Given the description of an element on the screen output the (x, y) to click on. 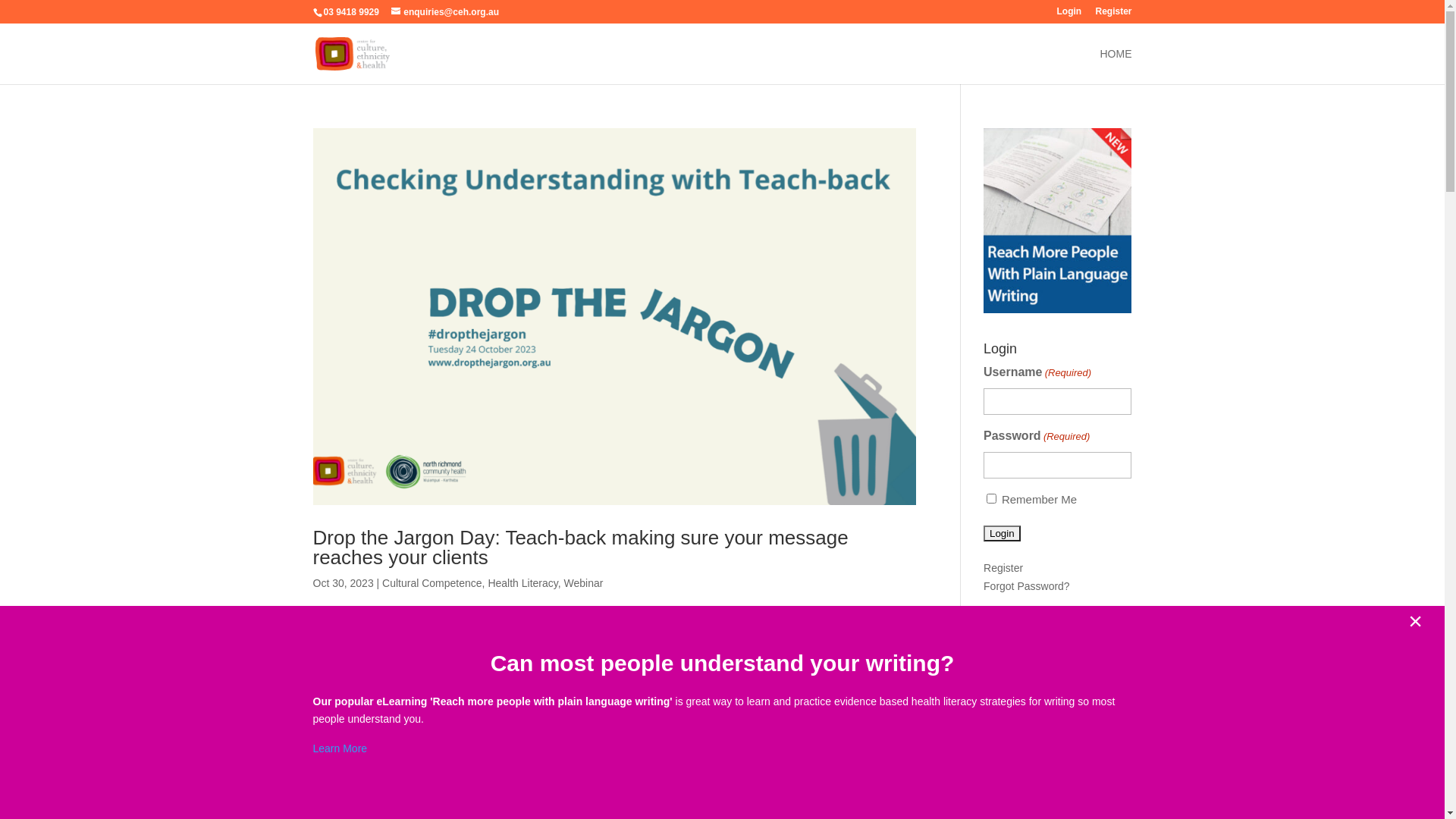
Register Element type: text (1113, 14)
Connecting with multicultural clients over the phone Element type: text (1050, 739)
Talking about Sexual Health Element type: text (1049, 707)
Login Element type: text (1001, 533)
Health Literacy Element type: text (522, 583)
Applying Cultural Competence in the Evaluation of Programs Element type: text (1054, 780)
Forgot Password? Element type: text (1026, 586)
Login Element type: text (1068, 14)
Webinar Element type: text (583, 583)
HOME Element type: text (1115, 66)
Learn More Element type: text (339, 748)
Register Element type: text (1002, 567)
Cultural Competence Element type: text (432, 583)
enquiries@ceh.org.au Element type: text (444, 11)
